Given the description of an element on the screen output the (x, y) to click on. 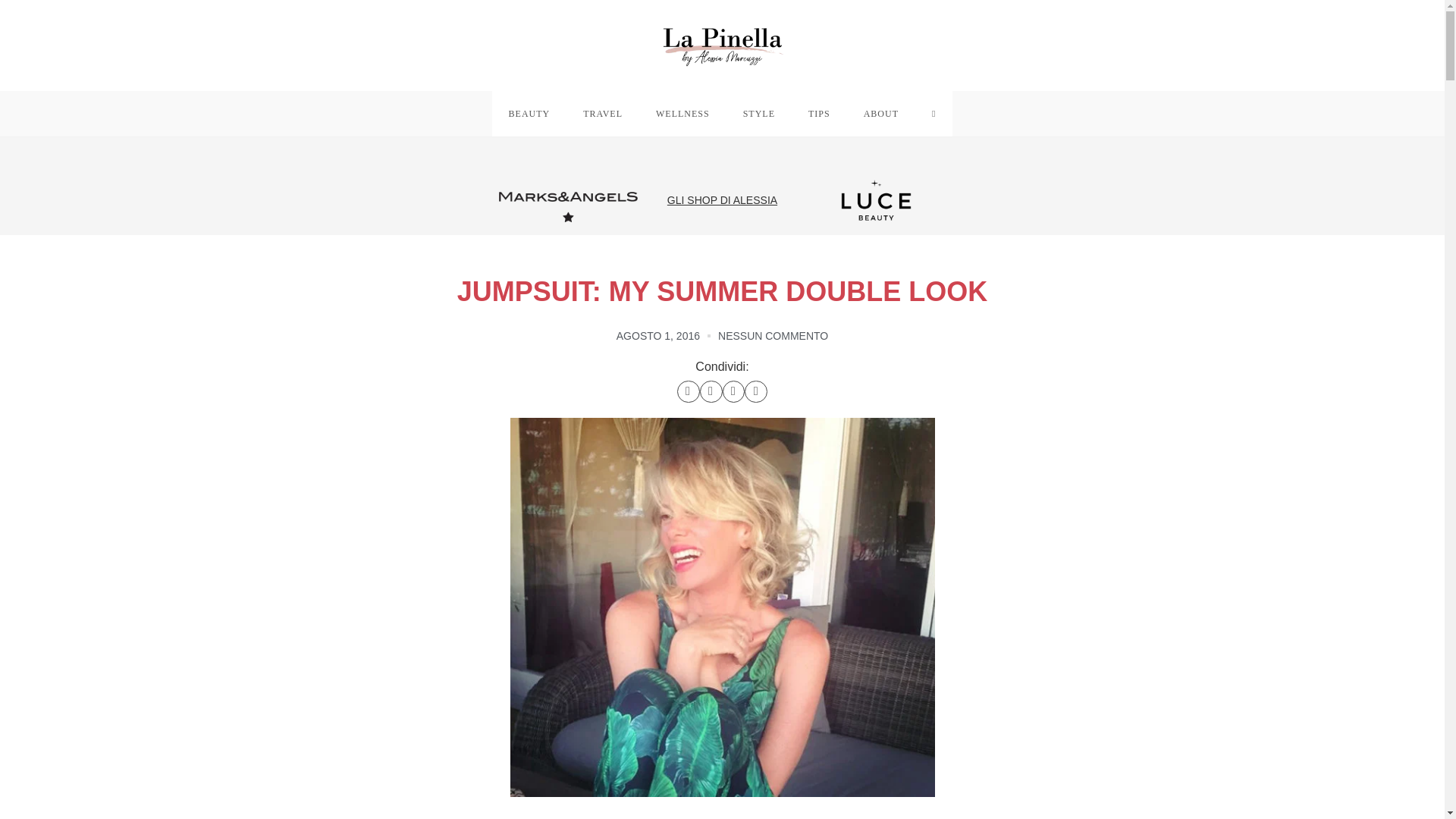
TRAVEL (602, 113)
BEAUTY (529, 113)
WELLNESS (682, 113)
NESSUN COMMENTO (772, 335)
STYLE (759, 113)
ABOUT (881, 113)
TIPS (819, 113)
AGOSTO 1, 2016 (657, 335)
